Given the description of an element on the screen output the (x, y) to click on. 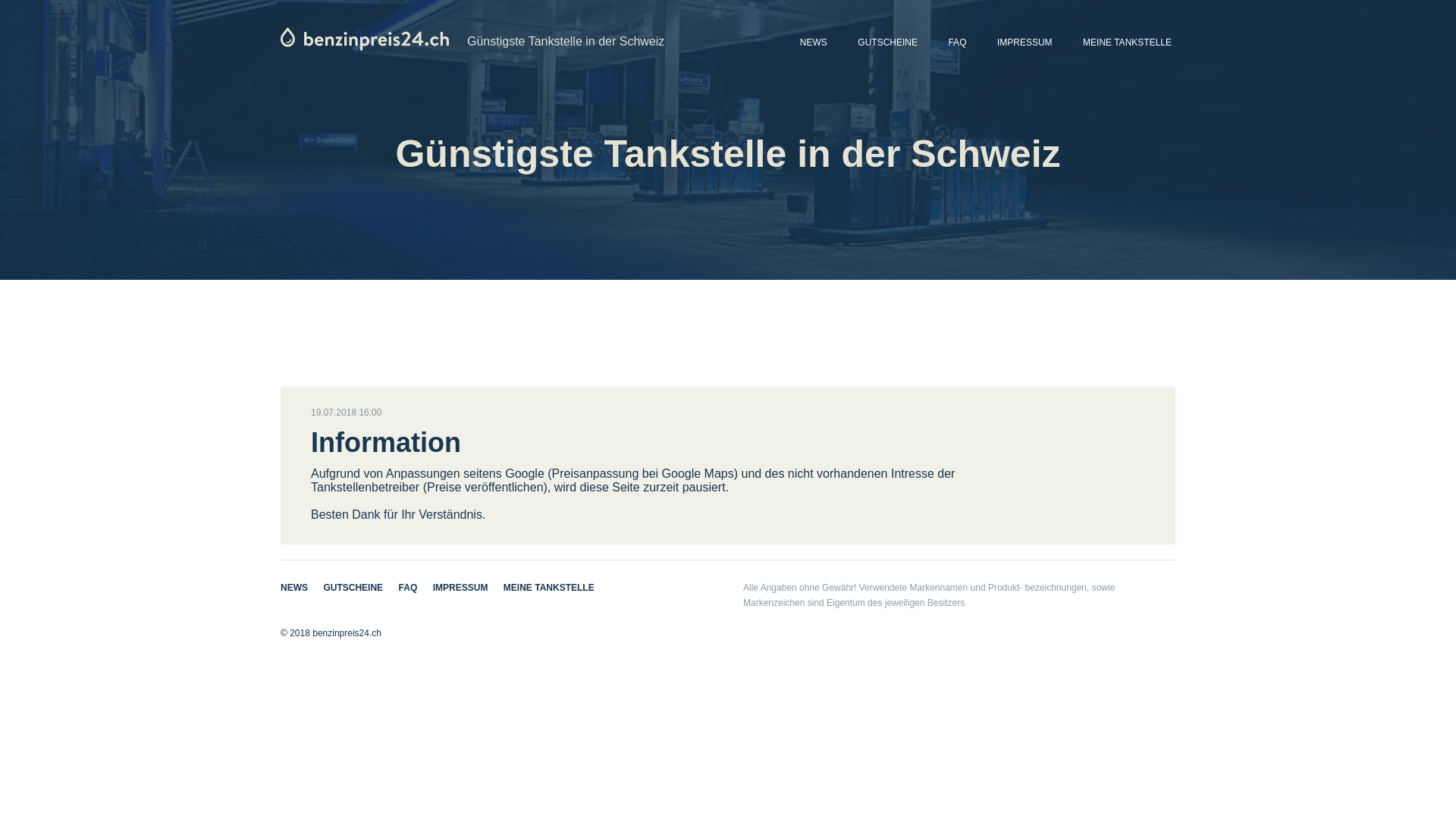
IMPRESSUM Element type: text (460, 587)
NEWS Element type: text (813, 43)
GUTSCHEINE Element type: text (887, 43)
MEINE TANKSTELLE Element type: text (1127, 43)
MEINE TANKSTELLE Element type: text (548, 587)
NEWS Element type: text (293, 587)
FAQ Element type: text (407, 587)
GUTSCHEINE Element type: text (352, 587)
FAQ Element type: text (956, 43)
IMPRESSUM Element type: text (1024, 43)
